Given the description of an element on the screen output the (x, y) to click on. 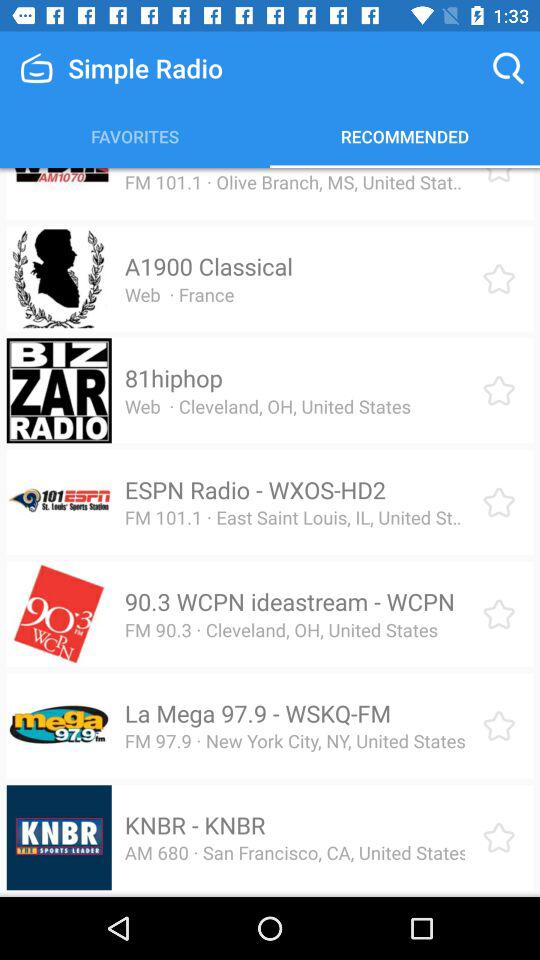
turn off the item below fm 101 1 icon (208, 266)
